Given the description of an element on the screen output the (x, y) to click on. 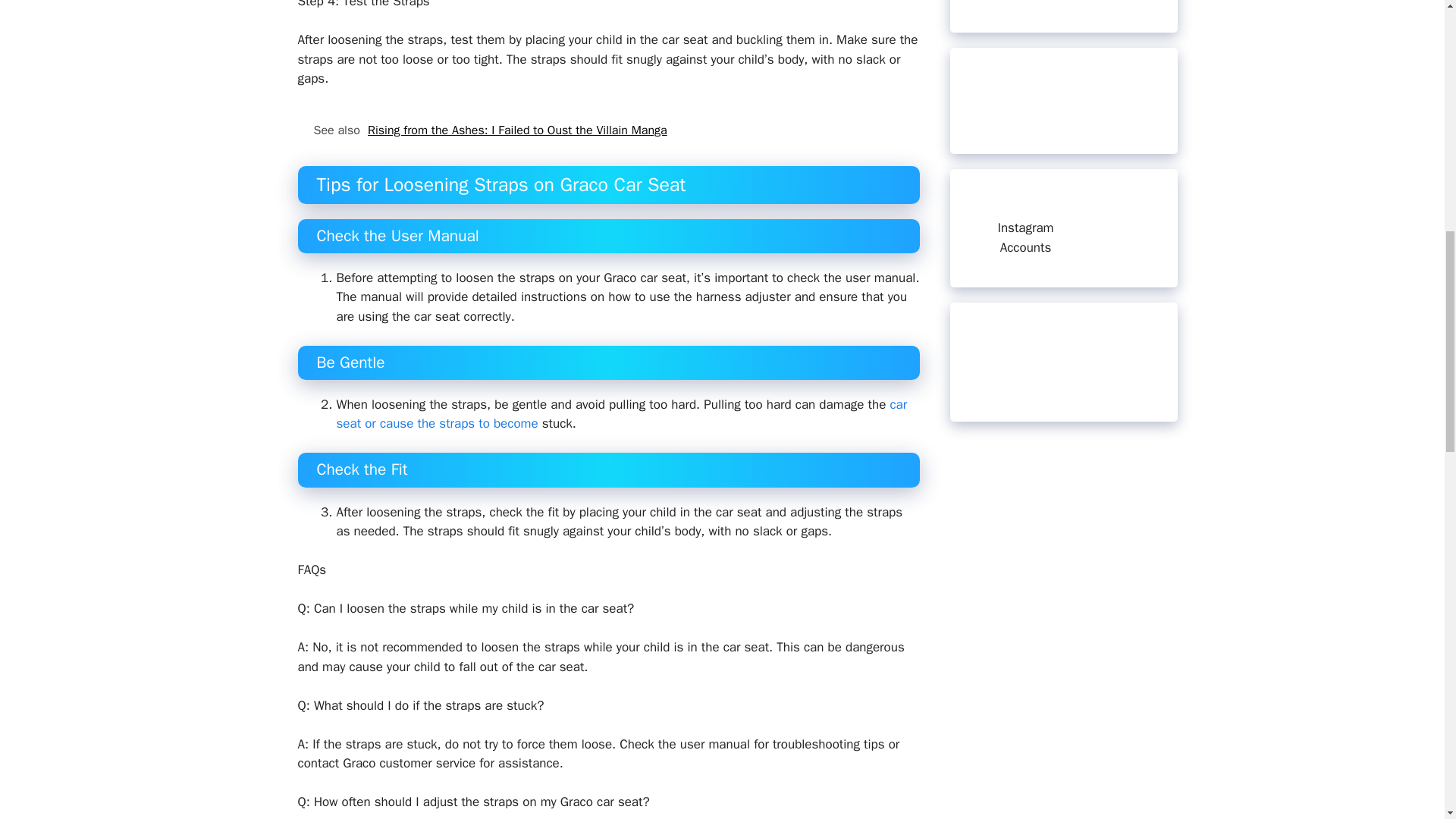
Scroll back to top (1406, 720)
Instagram Accounts (1024, 237)
car seat or cause the straps to become (621, 414)
